Given the description of an element on the screen output the (x, y) to click on. 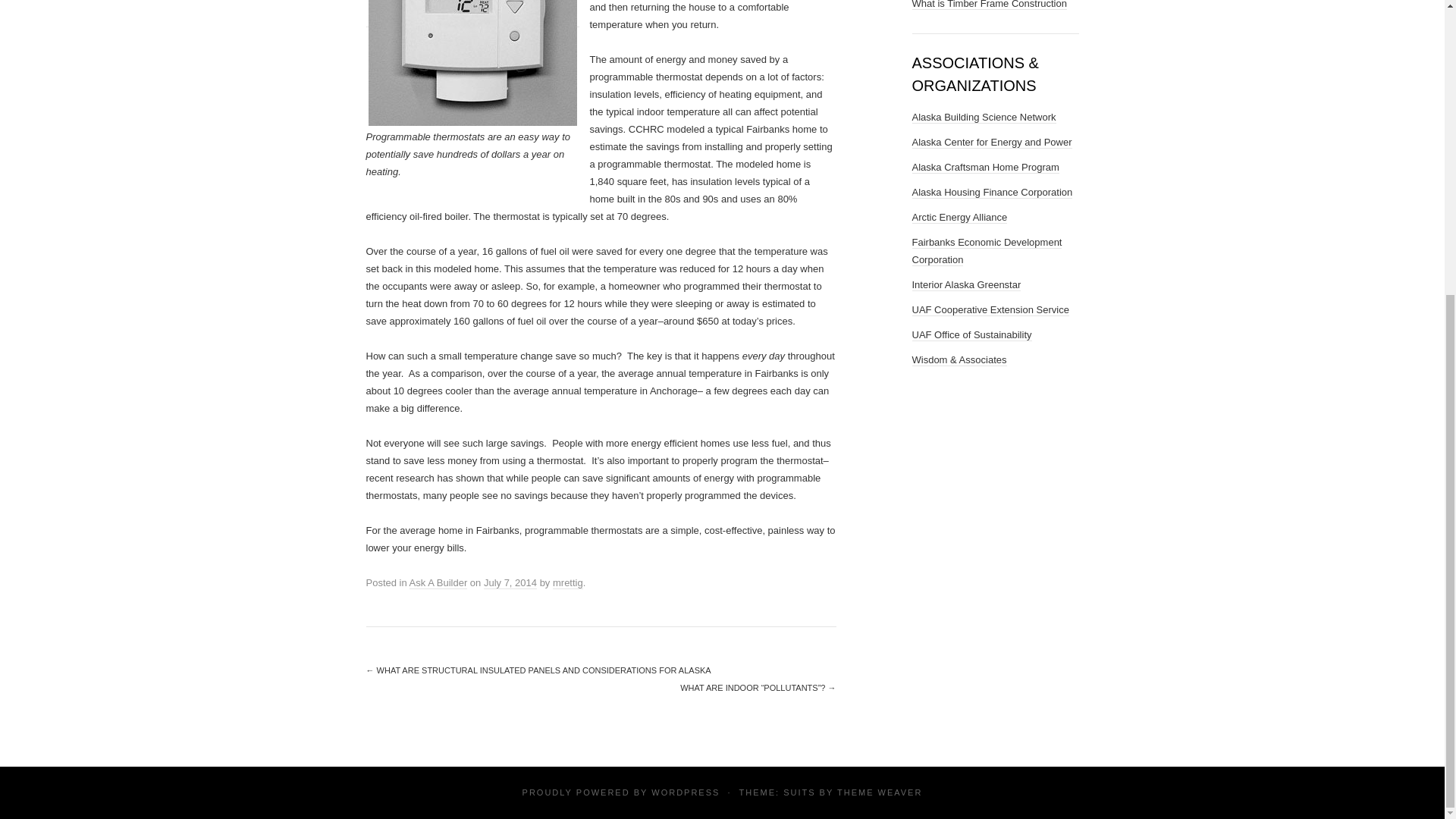
View all posts by mrettig (568, 582)
Alaska Building Science Network (983, 117)
UAF Office of Sustainability (970, 335)
Arctic Energy Alliance (959, 217)
July 7, 2014 (510, 582)
Interior Alaska Greenstar (965, 285)
Semantic Personal Publishing Platform (684, 791)
Alaska Housing Finance Corporation (991, 192)
Ask A Builder (438, 582)
Local electronics recycling and business greenstar awards (965, 285)
UAF Cooperative Extension Service (989, 309)
Alaska Craftsman Home Program (984, 167)
10:58 am (510, 582)
THEME WEAVER (879, 791)
What is Timber Frame Construction (988, 4)
